Given the description of an element on the screen output the (x, y) to click on. 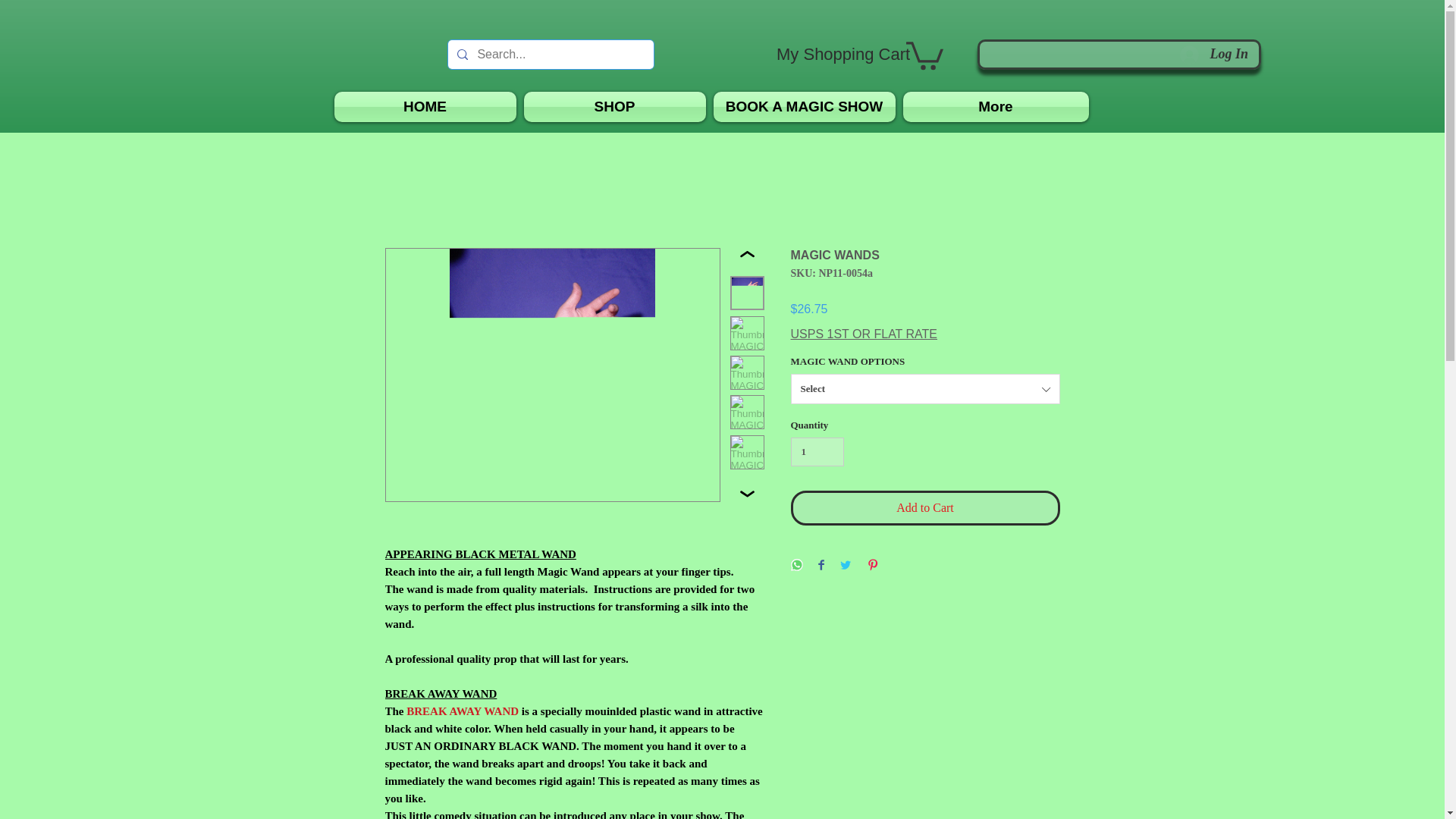
Add to Cart (924, 507)
BOOK A MAGIC SHOW (804, 106)
1 (817, 451)
Log In (1214, 53)
Select (924, 388)
HOME (424, 106)
USPS 1ST OR FLAT RATE (863, 333)
